Given the description of an element on the screen output the (x, y) to click on. 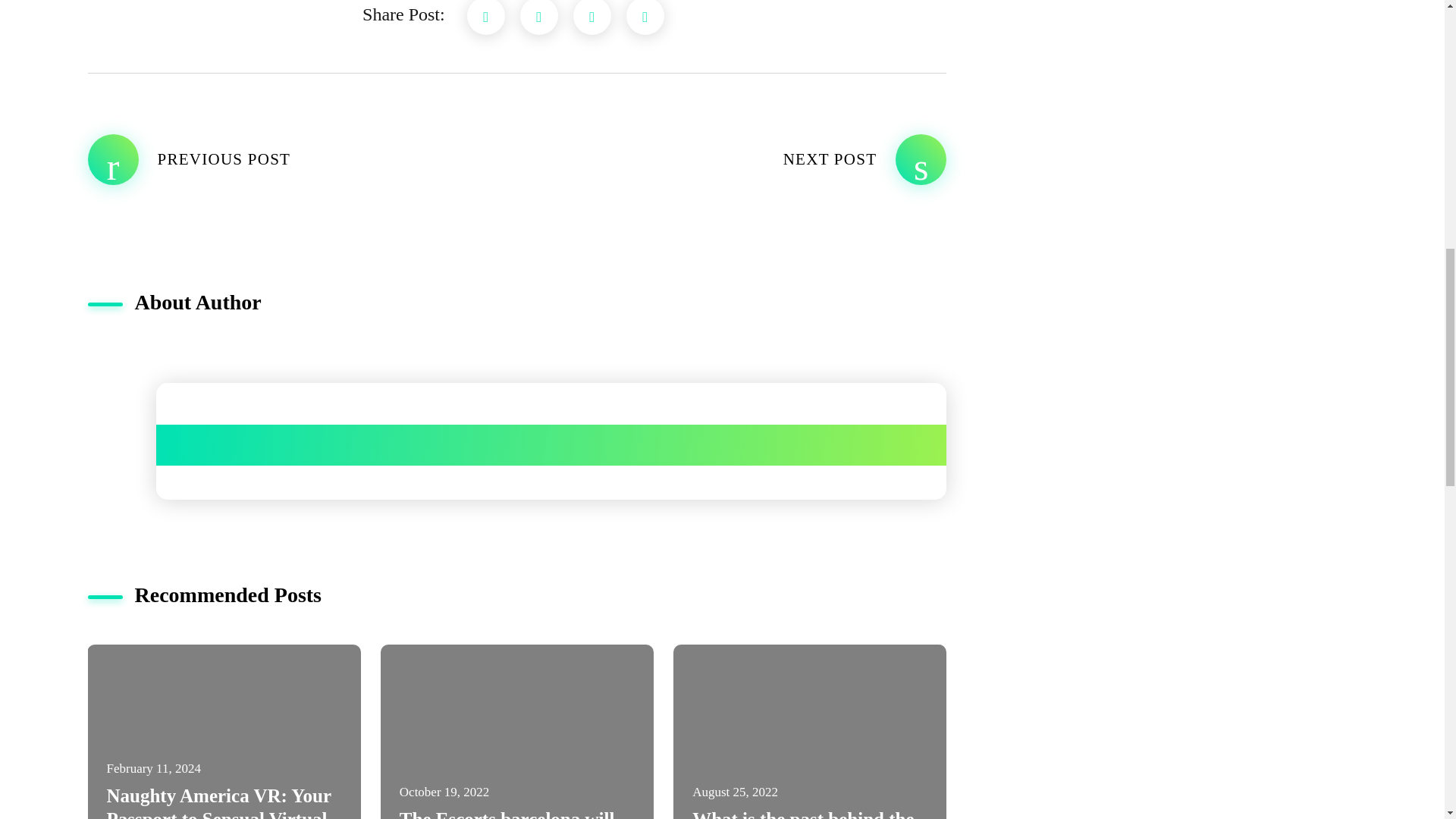
NEXT POST (731, 159)
PREVIOUS POST (301, 159)
